Given the description of an element on the screen output the (x, y) to click on. 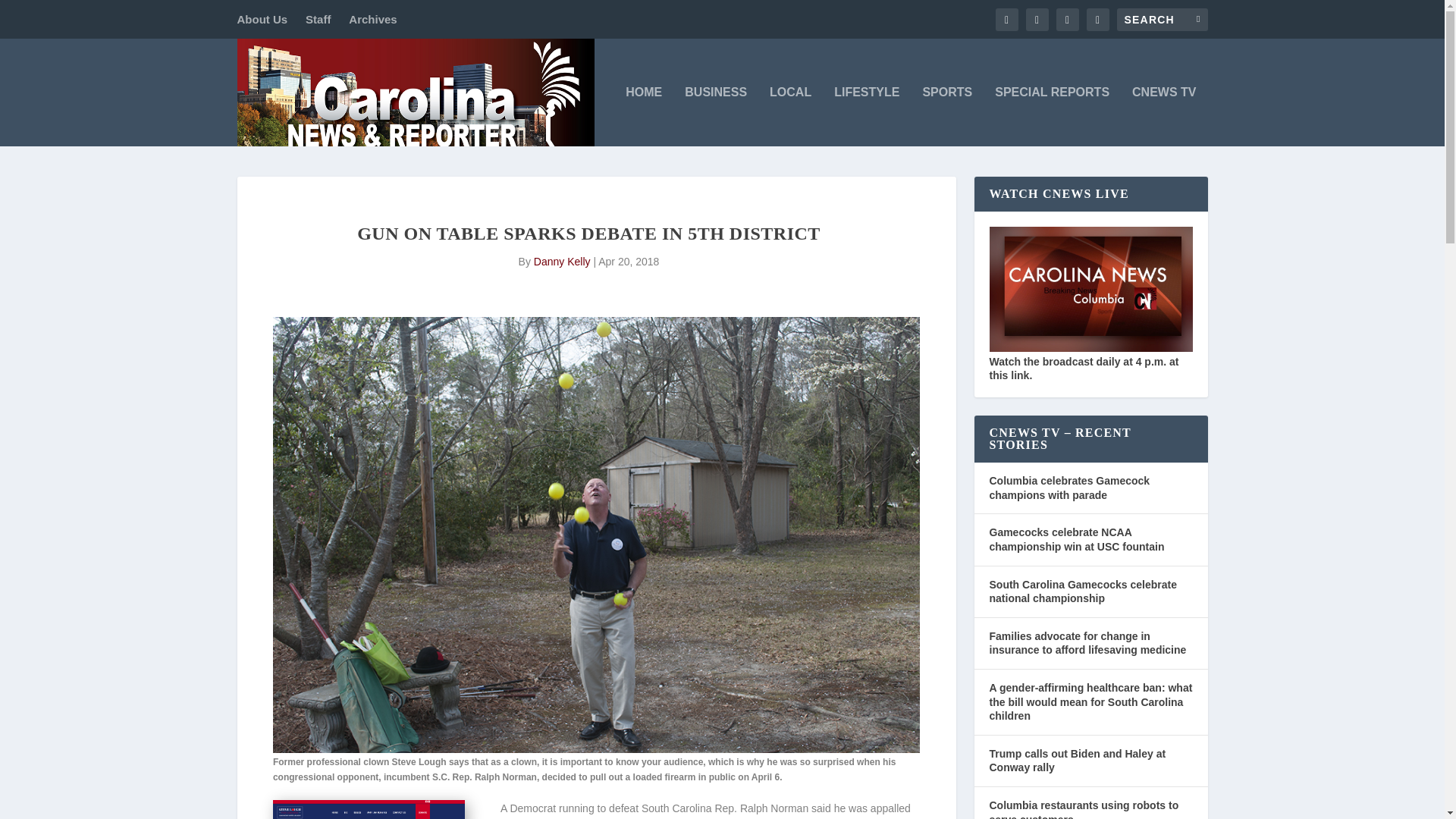
Archives (372, 19)
BUSINESS (715, 116)
About Us (260, 19)
Danny Kelly (562, 261)
LIFESTYLE (866, 116)
Search for: (1161, 18)
Posts by Danny Kelly (562, 261)
SPECIAL REPORTS (1051, 116)
CNEWS TV (1163, 116)
